Given the description of an element on the screen output the (x, y) to click on. 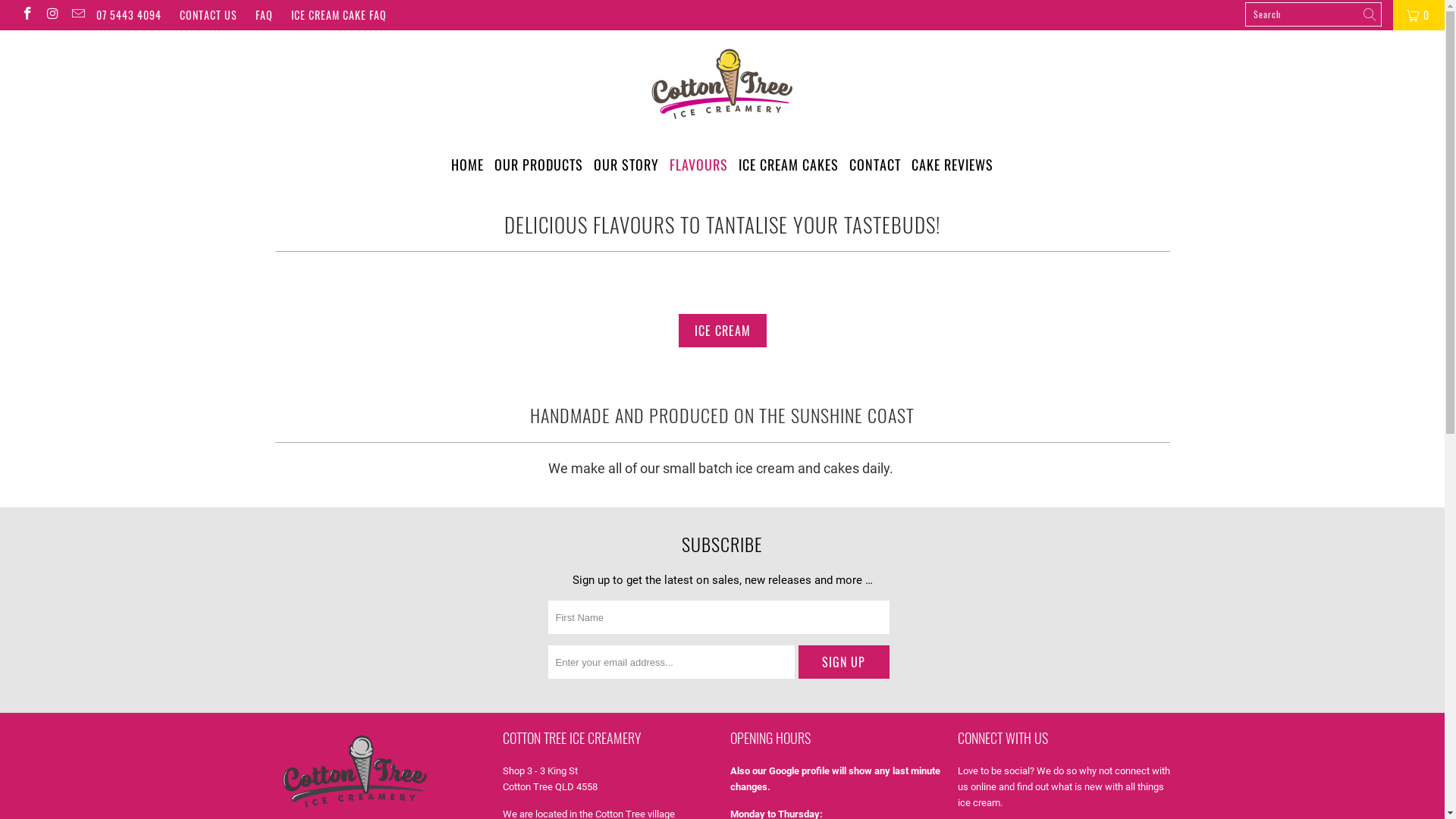
0 Element type: text (1418, 15)
Cottontreeicecreamery Element type: hover (722, 84)
ICE CREAM Element type: text (721, 330)
CONTACT US Element type: text (208, 15)
FLAVOURS Element type: text (698, 164)
Cottontreeicecreamery on Instagram Element type: hover (51, 15)
Sign Up Element type: text (842, 661)
CAKE REVIEWS Element type: text (952, 164)
OUR STORY Element type: text (625, 164)
Cottontreeicecreamery on Facebook Element type: hover (26, 15)
ICE CREAM CAKE FAQ Element type: text (338, 15)
HOME Element type: text (467, 164)
Email Cottontreeicecreamery Element type: hover (76, 15)
07 5443 4094 Element type: text (128, 15)
CONTACT Element type: text (874, 164)
ICE CREAM CAKES Element type: text (788, 164)
OUR PRODUCTS Element type: text (538, 164)
FAQ Element type: text (264, 15)
